Given the description of an element on the screen output the (x, y) to click on. 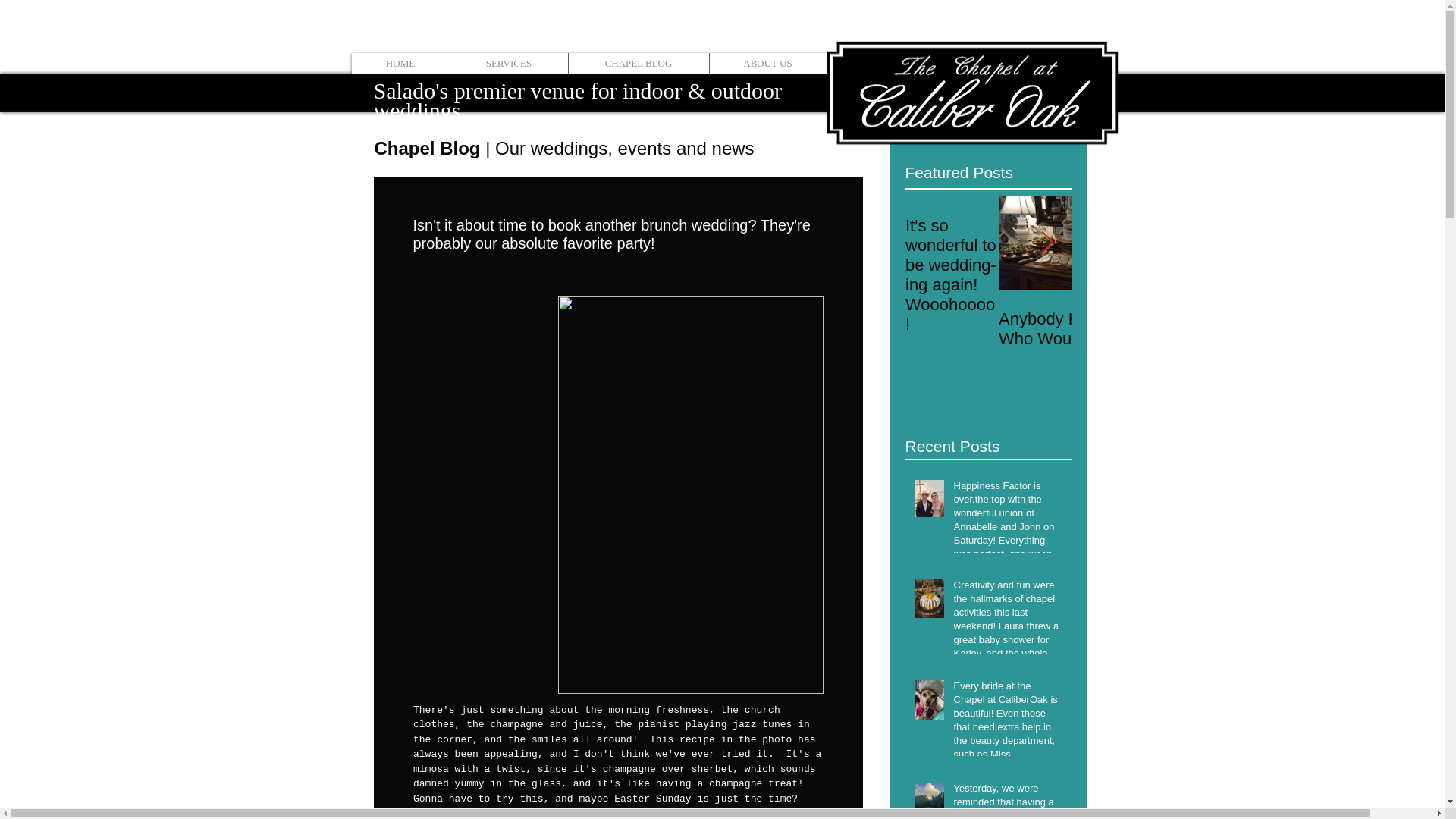
ABOUT US (766, 63)
HOME (400, 63)
SERVICES (507, 63)
CHAPEL BLOG (637, 63)
Anybody Hungry? Who Wouldn't be?!?!? (1080, 328)
